Given the description of an element on the screen output the (x, y) to click on. 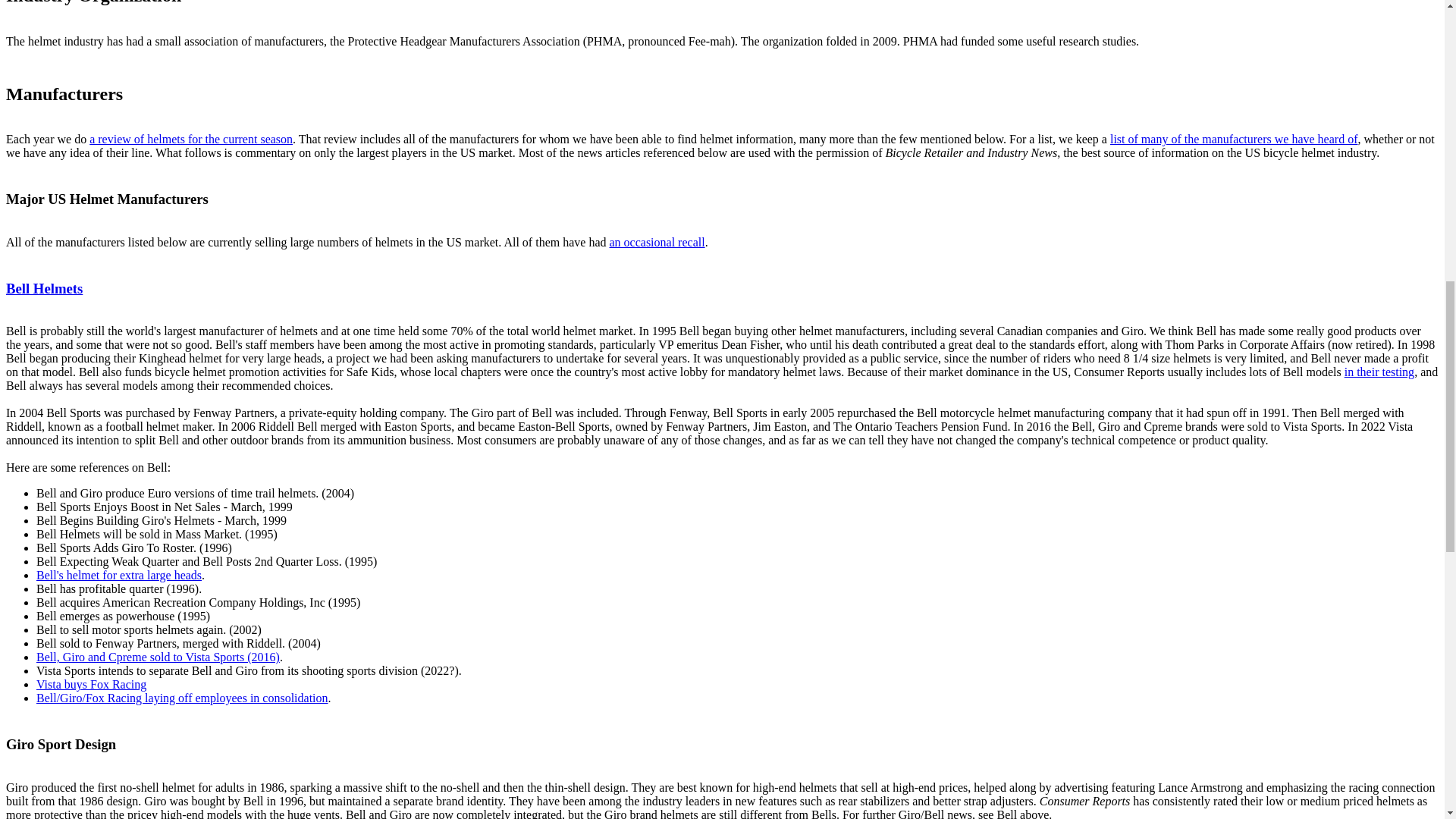
list of many of the manufacturers we have heard of (1233, 138)
in their testing (1378, 371)
Bell's helmet for extra large heads (119, 574)
a review of helmets for the current season (190, 138)
Bell Helmets (43, 288)
an occasional recall (656, 241)
Vista buys Fox Racing (91, 684)
